Given the description of an element on the screen output the (x, y) to click on. 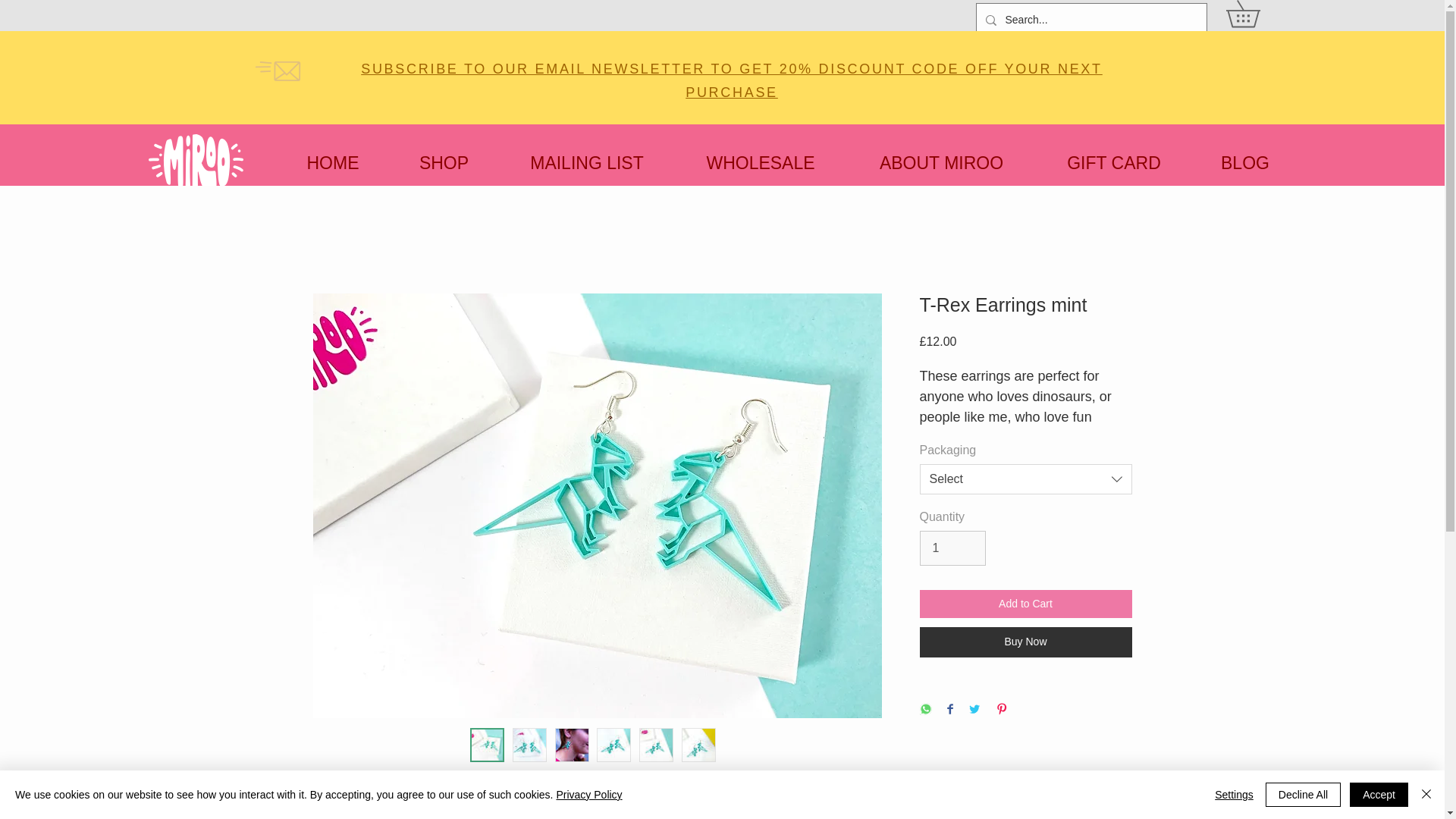
SHOP (444, 162)
ABOUT MIROO (940, 162)
Select (1024, 479)
Buy Now (1024, 642)
Accept (1378, 794)
HOME (332, 162)
Privacy Policy (588, 794)
Add to Cart (1024, 603)
Decline All (1302, 794)
GIFT CARD (1113, 162)
